Given the description of an element on the screen output the (x, y) to click on. 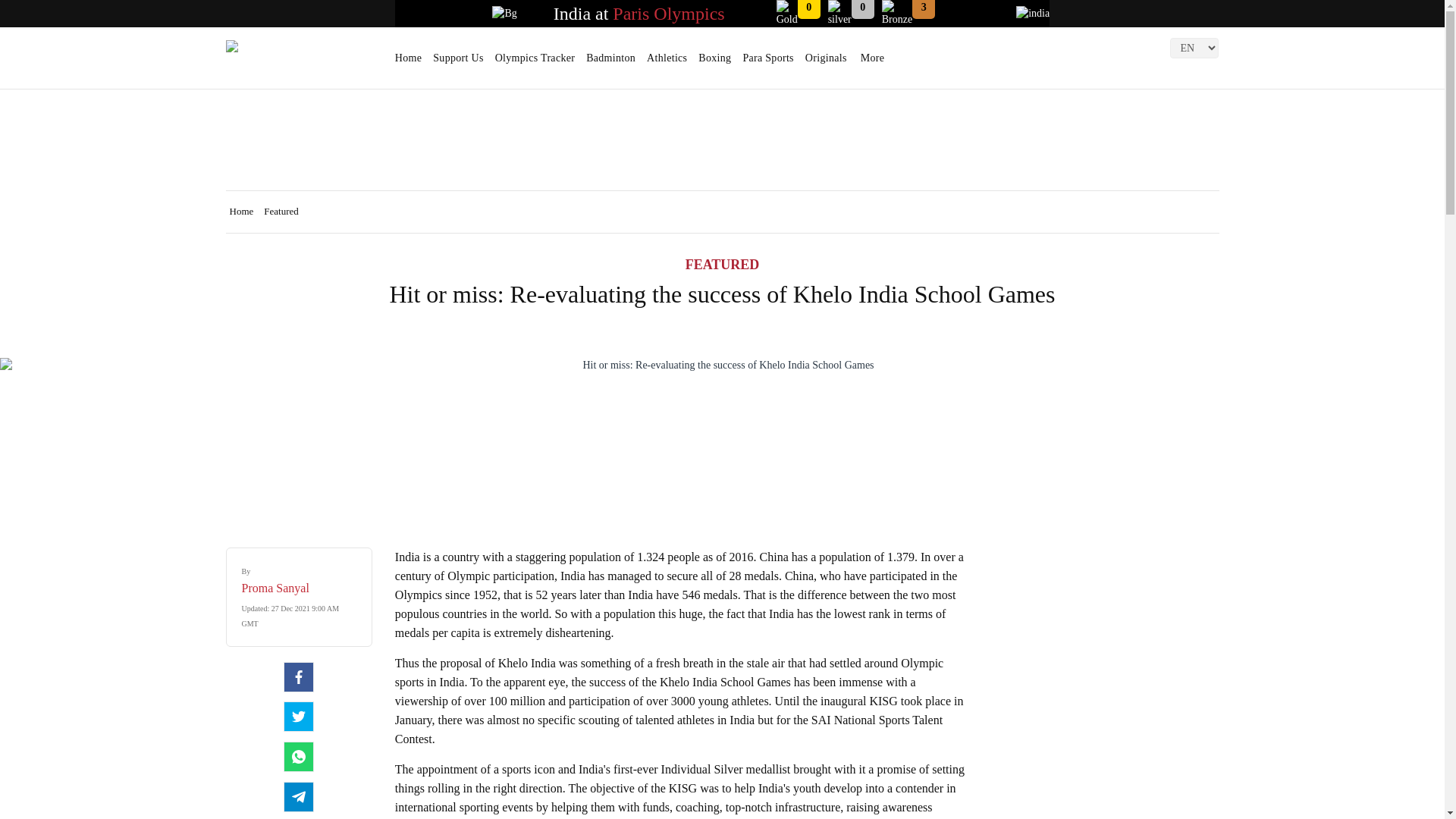
Para Sports (767, 63)
Paris Olympics (667, 13)
Olympics Tracker (535, 63)
Support Us (457, 63)
Badminton (610, 63)
